Given the description of an element on the screen output the (x, y) to click on. 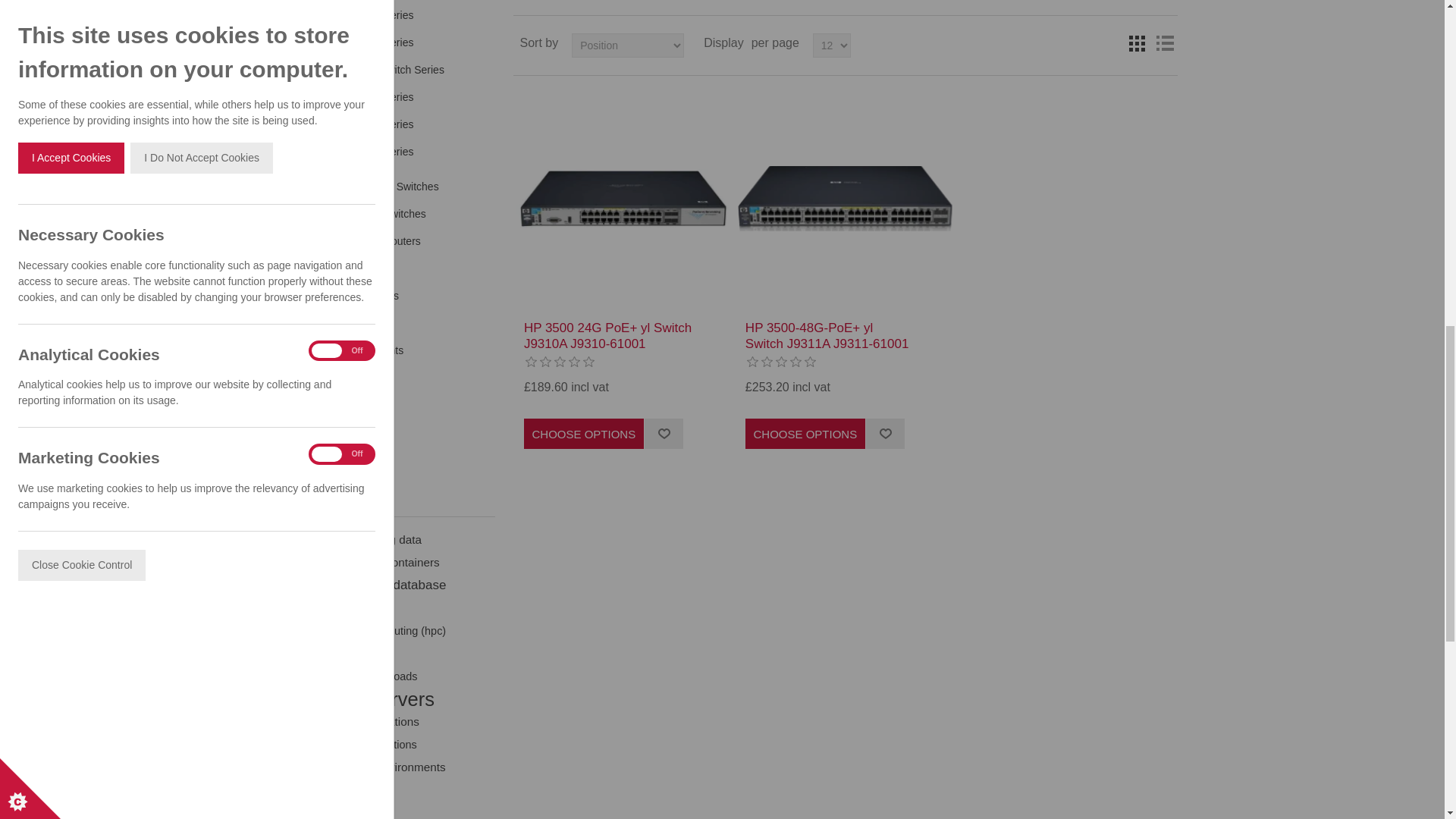
Choose Options (804, 433)
Choose Options (583, 433)
Add to wishlist (884, 433)
Add to wishlist (884, 433)
Add to wishlist (663, 433)
Add to wishlist (663, 433)
